Given the description of an element on the screen output the (x, y) to click on. 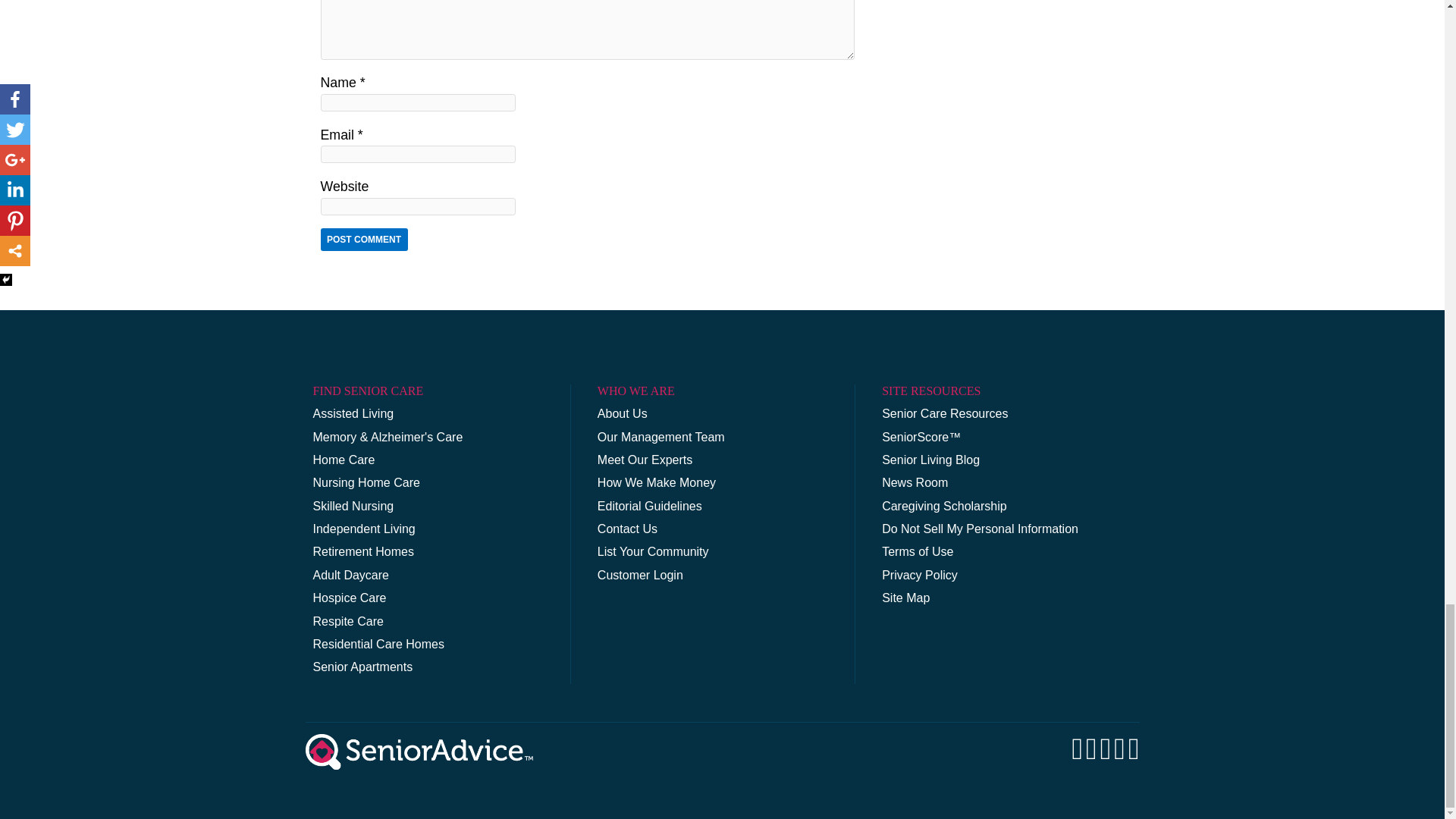
Post Comment (363, 239)
